Given the description of an element on the screen output the (x, y) to click on. 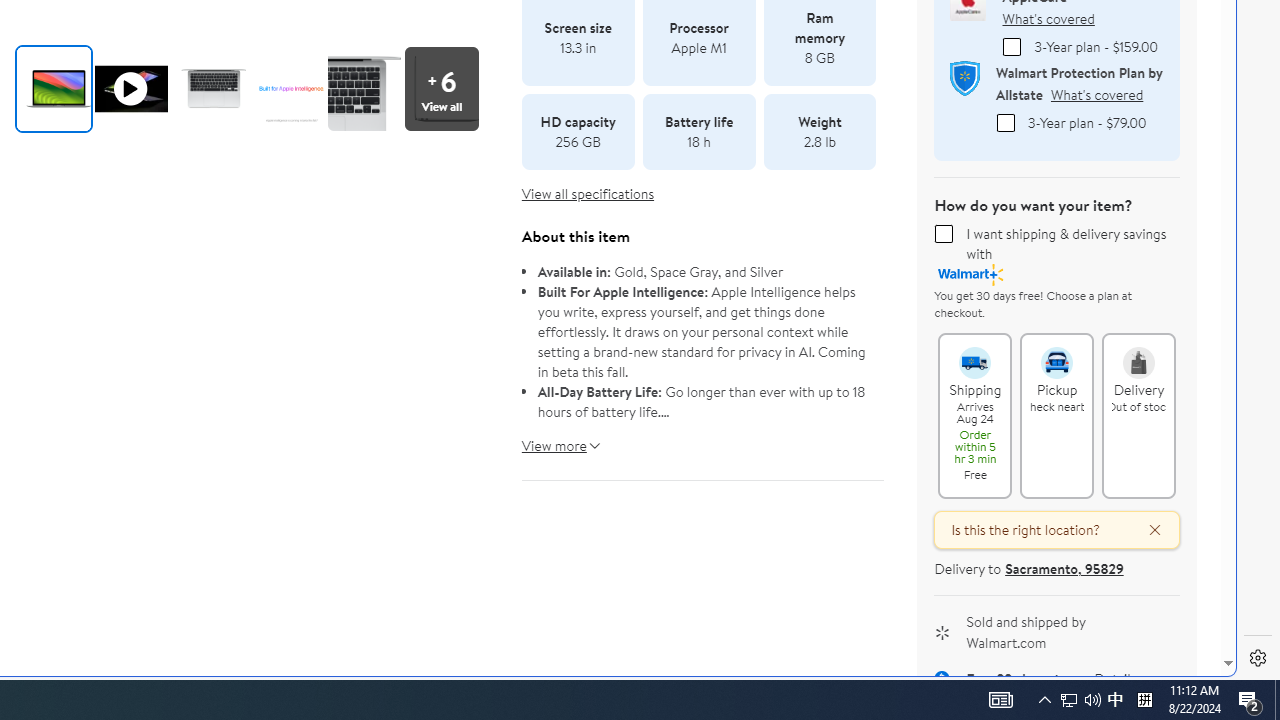
3-Year plan - $79.00 (1005, 122)
Close question (1146, 529)
Delivery Out of stock Delivery Out of stock (1139, 415)
Pickup Check nearby Pickup Check nearby (1057, 415)
View more, item details (553, 438)
View all media (441, 88)
What's covered of AppleCare+ (1048, 18)
Available in: Gold, Space Gray, and Silver (703, 272)
Class: absolute pointer (130, 88)
